Given the description of an element on the screen output the (x, y) to click on. 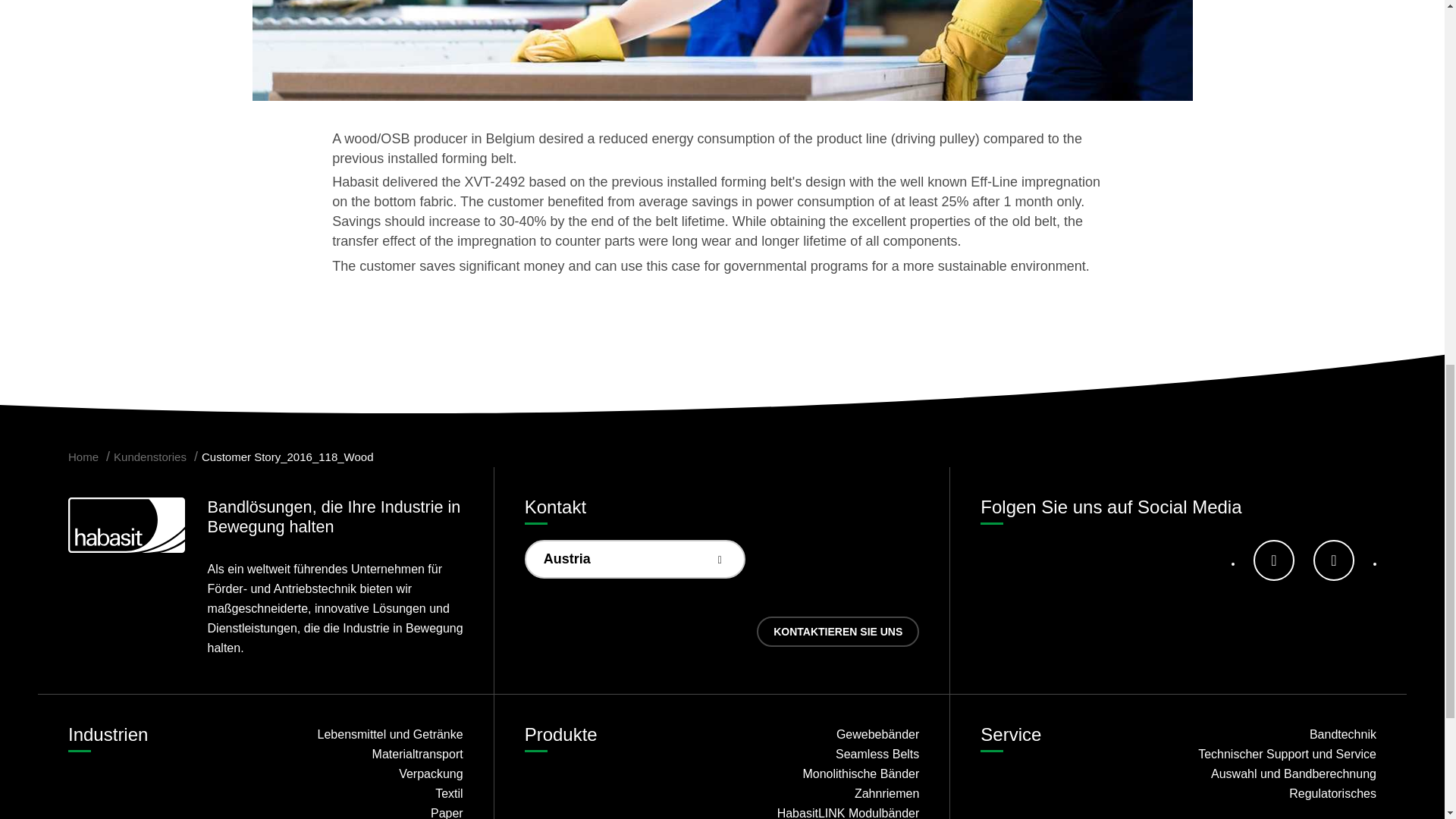
Bandtechnik (1282, 734)
Home (83, 456)
Materialtransport (369, 754)
Seamless Belts (825, 754)
Home (83, 456)
Paper (369, 811)
KONTAKTIEREN SIE UNS (837, 631)
Textil (369, 793)
Zahnriemen (825, 793)
Auswahl und Bandberechnung (1282, 773)
Regulatorisches (1282, 793)
Verpackung (369, 773)
Technischer Support und Service (1282, 754)
Kundenstories (149, 456)
